Given the description of an element on the screen output the (x, y) to click on. 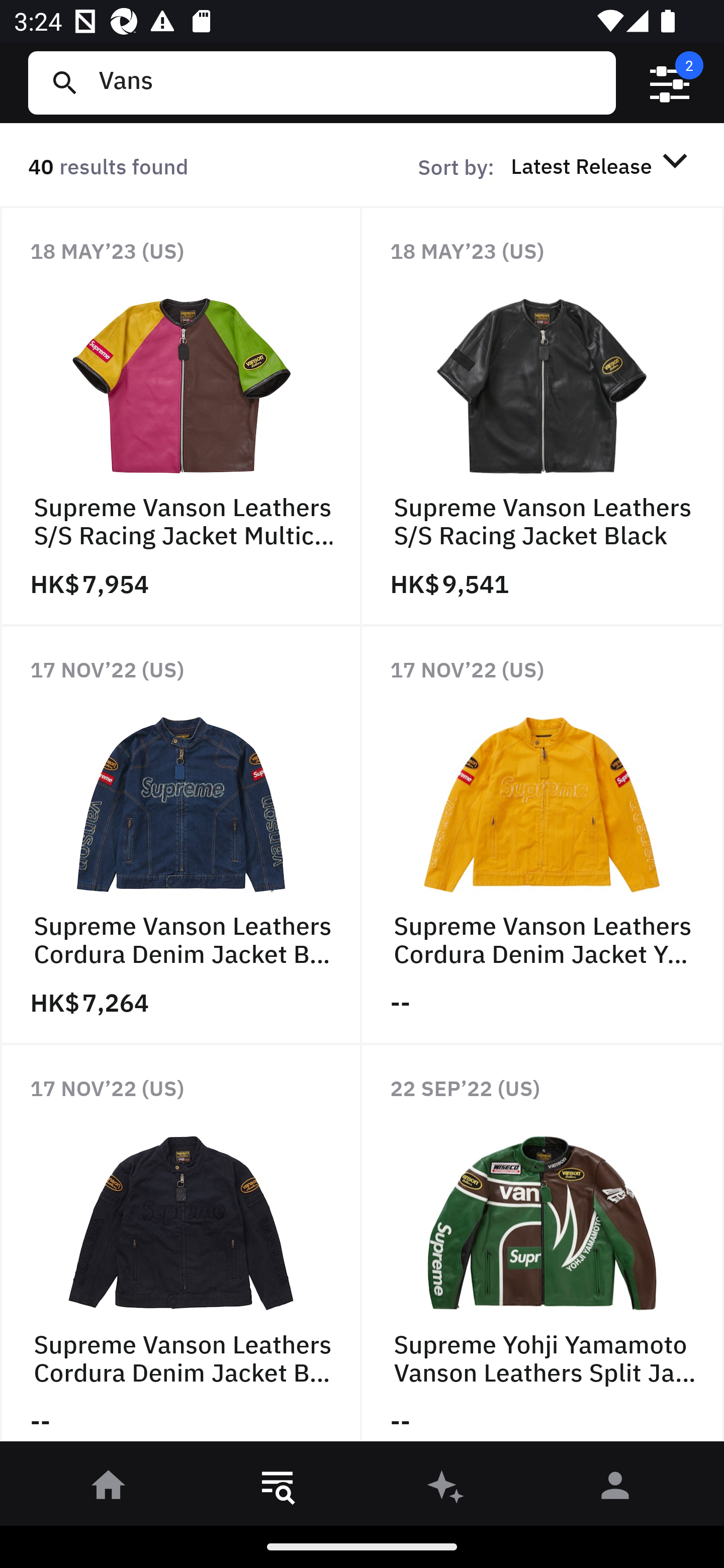
Vans (349, 82)
 (669, 82)
Latest Release  (602, 165)
󰋜 (108, 1488)
󱎸 (277, 1488)
󰫢 (446, 1488)
󰀄 (615, 1488)
